Given the description of an element on the screen output the (x, y) to click on. 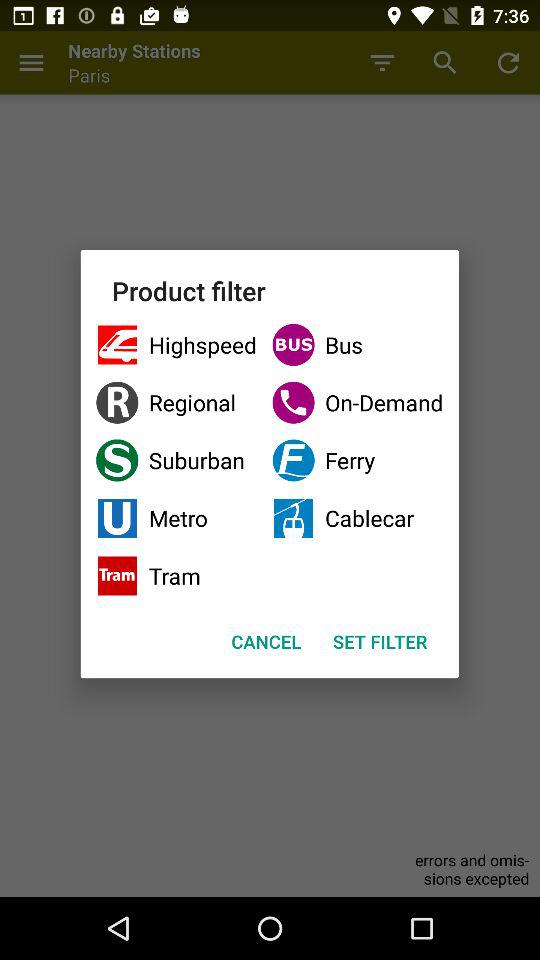
choose regional (176, 402)
